Given the description of an element on the screen output the (x, y) to click on. 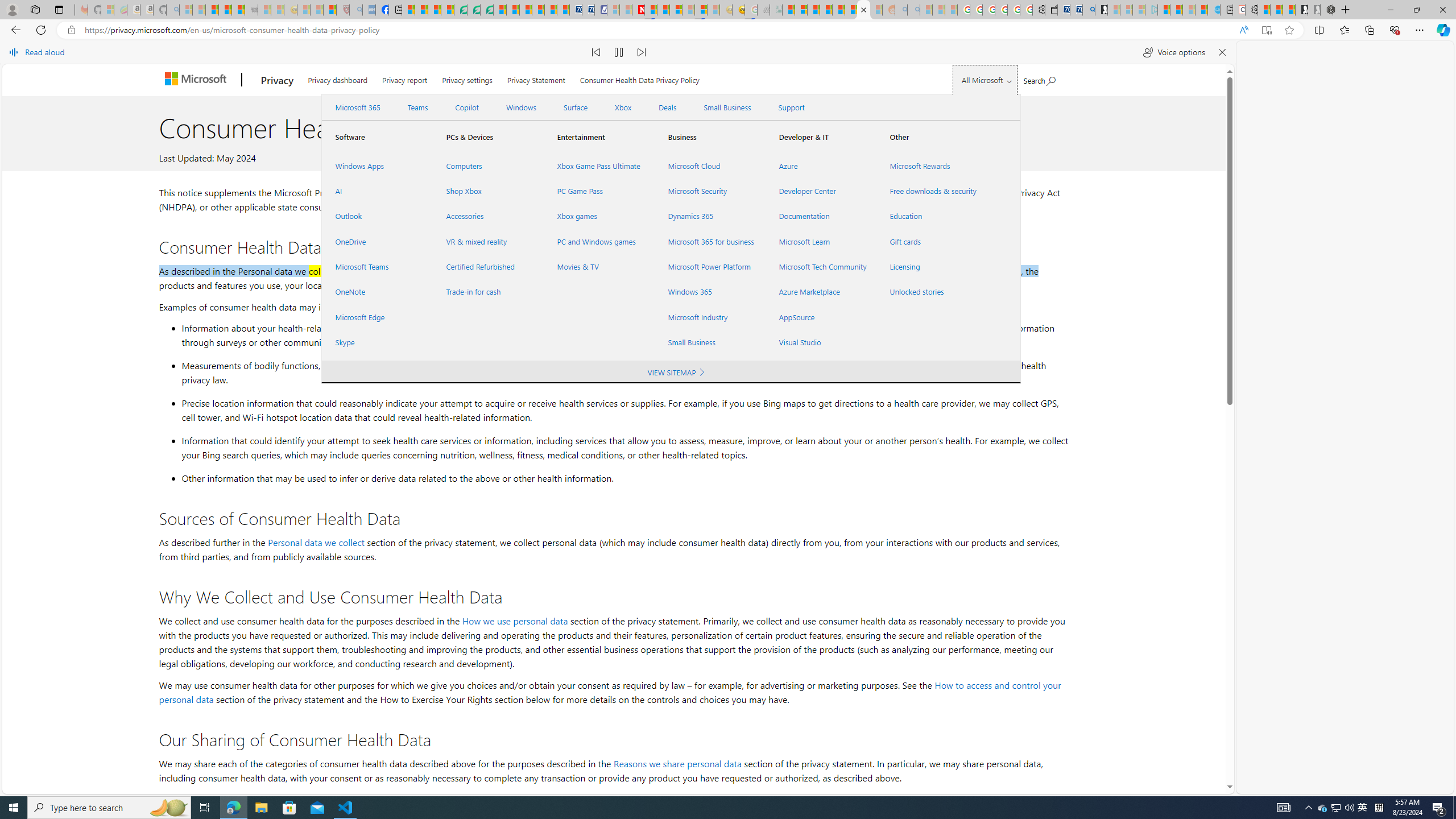
Microsoft Edge (376, 317)
Microsoft Edge (376, 317)
Microsoft Teams (376, 266)
Cheap Hotels - Save70.com (587, 9)
Microsoft Cloud (709, 165)
Microsoft Rewards (931, 165)
Recipes - MSN - Sleeping (303, 9)
PC and Windows games (599, 240)
